Given the description of an element on the screen output the (x, y) to click on. 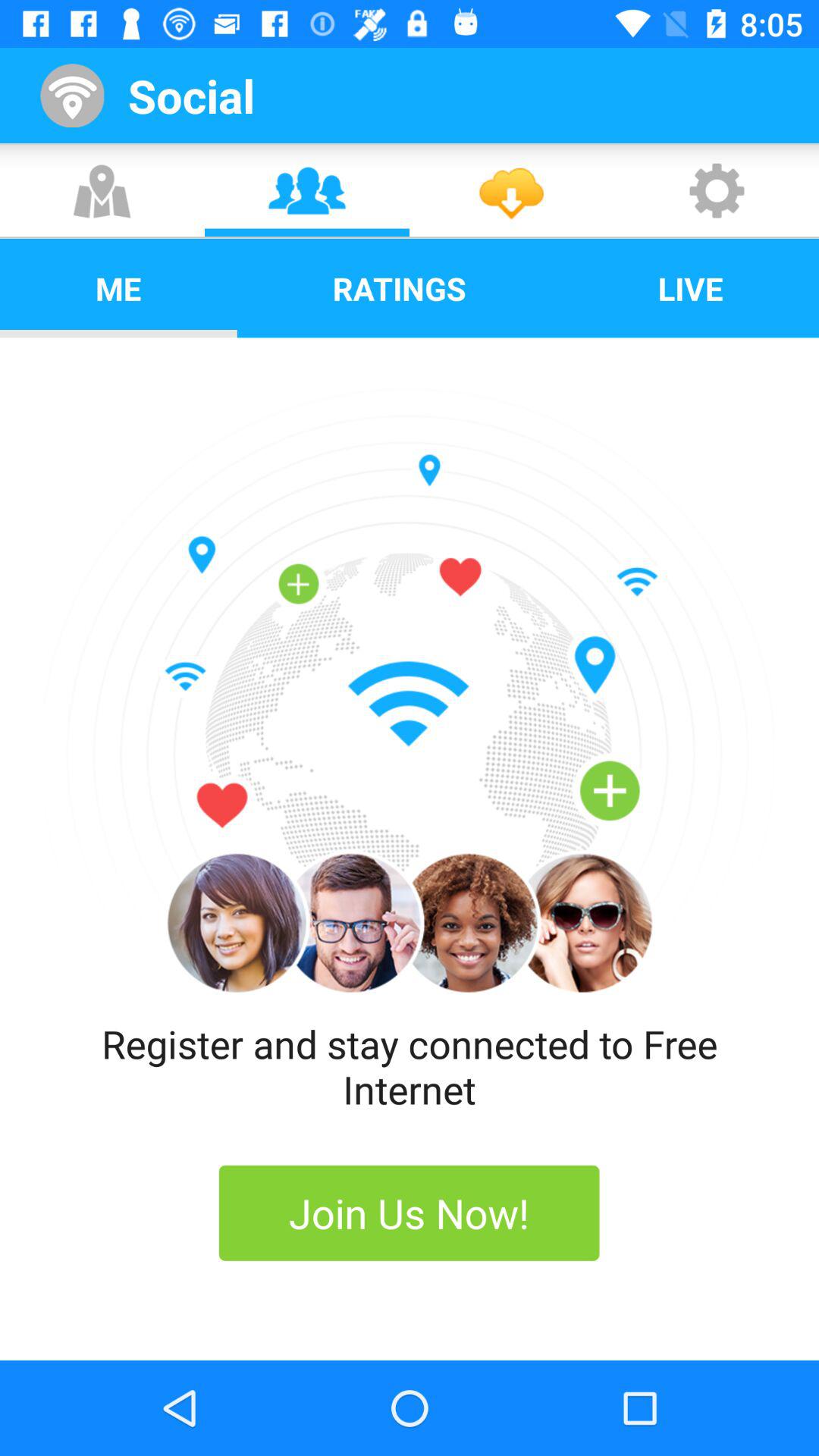
click on icon which is on the left side of social (79, 95)
click on the settings icon on the top right (716, 190)
select the third icon which is below the social (511, 190)
move to live tab (690, 287)
